Given the description of an element on the screen output the (x, y) to click on. 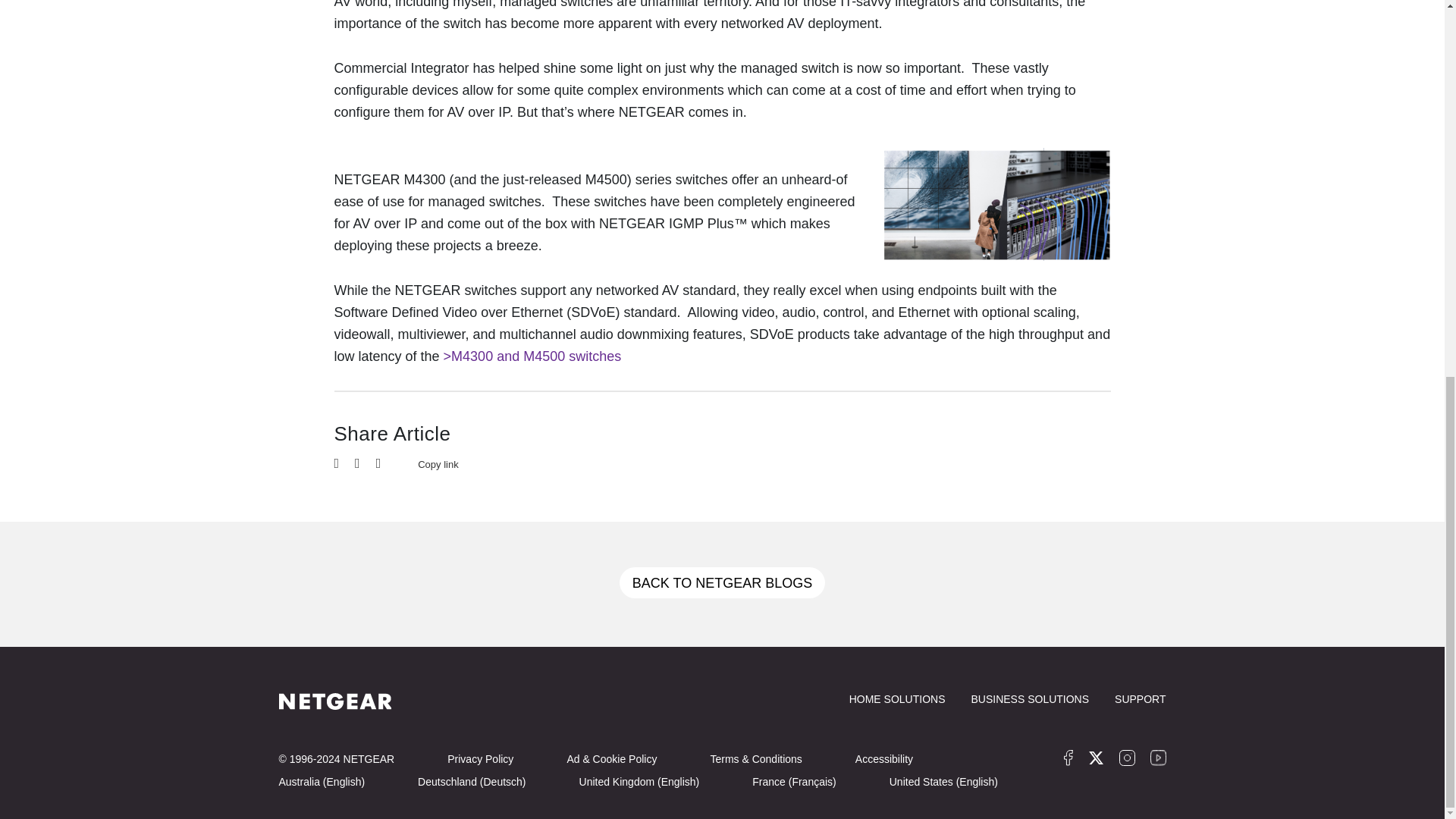
Copy link (427, 463)
Privacy Policy (479, 758)
SUPPORT (1140, 698)
Accessibility (884, 758)
BUSINESS SOLUTIONS (1030, 698)
BACK TO NETGEAR BLOGS (722, 582)
HOME SOLUTIONS (896, 698)
